Given the description of an element on the screen output the (x, y) to click on. 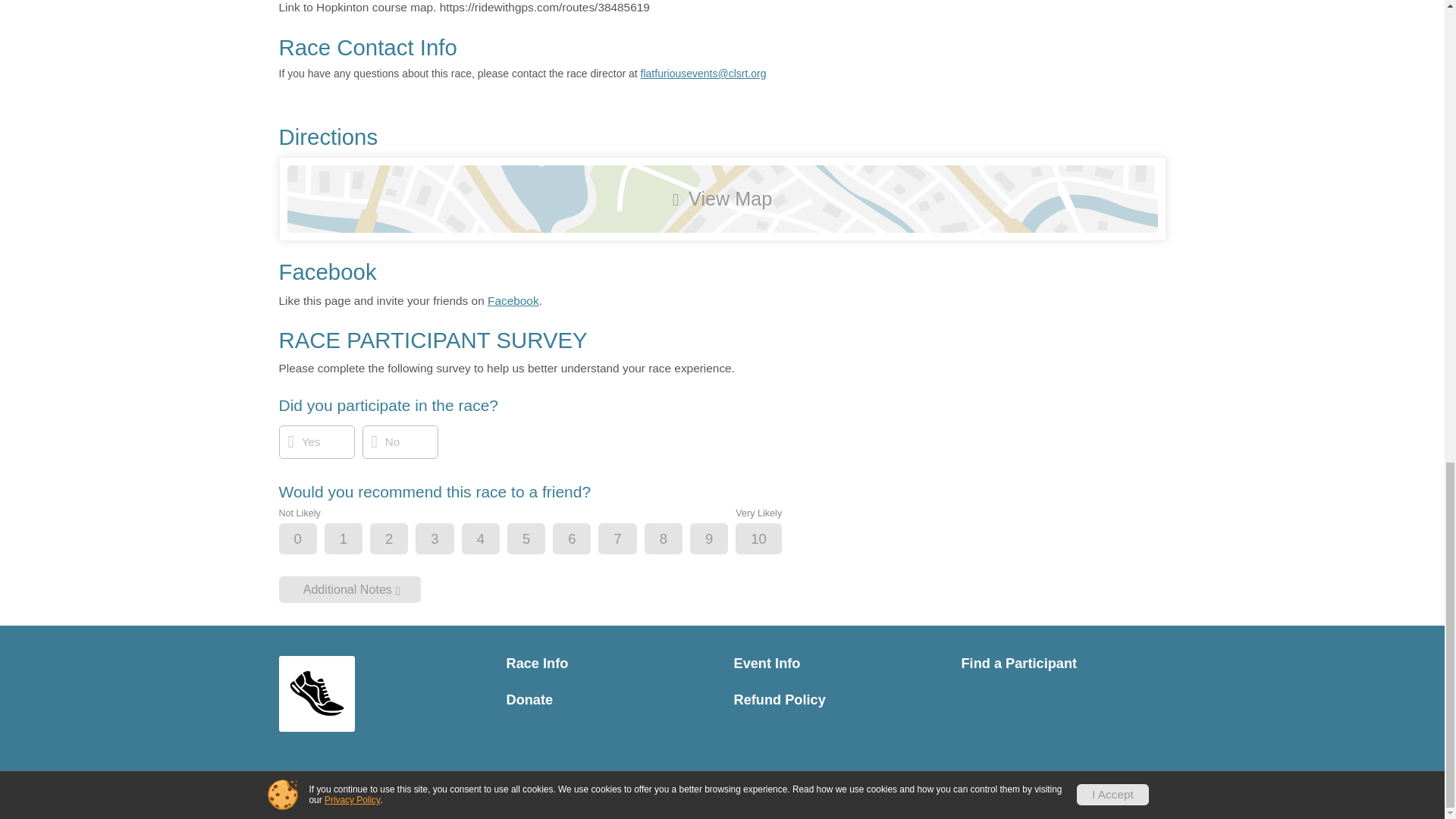
10 (770, 539)
6 (584, 539)
View Map (721, 198)
0 (310, 539)
Race Info (608, 663)
2 (401, 539)
5 (539, 539)
8 (675, 539)
9 (721, 539)
Facebook (512, 300)
4 (493, 539)
7 (629, 539)
Donate (608, 700)
Additional Notes (349, 589)
1 (355, 539)
